Given the description of an element on the screen output the (x, y) to click on. 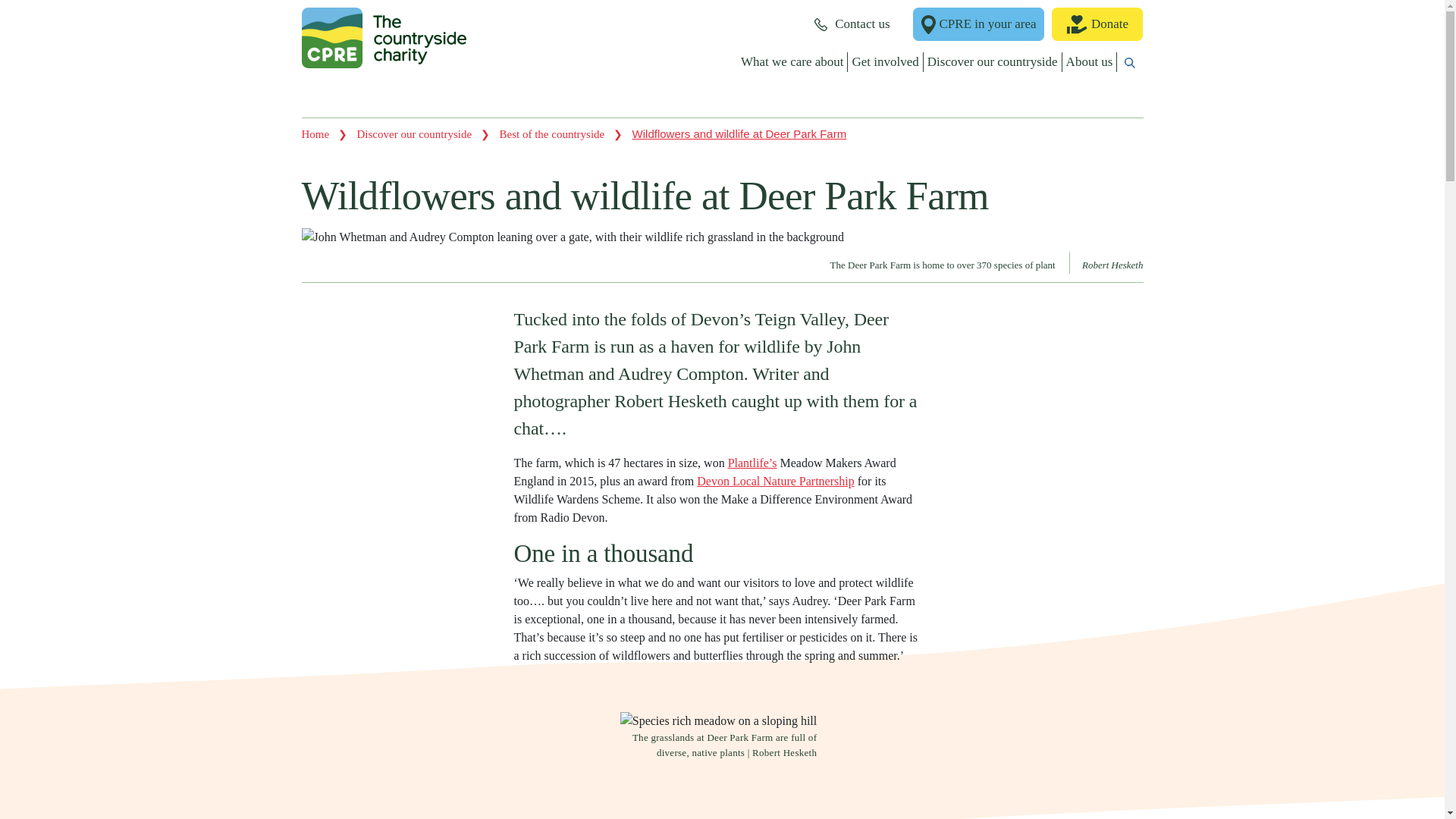
Discover our countryside (992, 62)
Donate (1096, 23)
Contact us (851, 23)
About us (1090, 62)
Get involved (885, 62)
CPRE in your area (978, 23)
What we care about (791, 62)
